Given the description of an element on the screen output the (x, y) to click on. 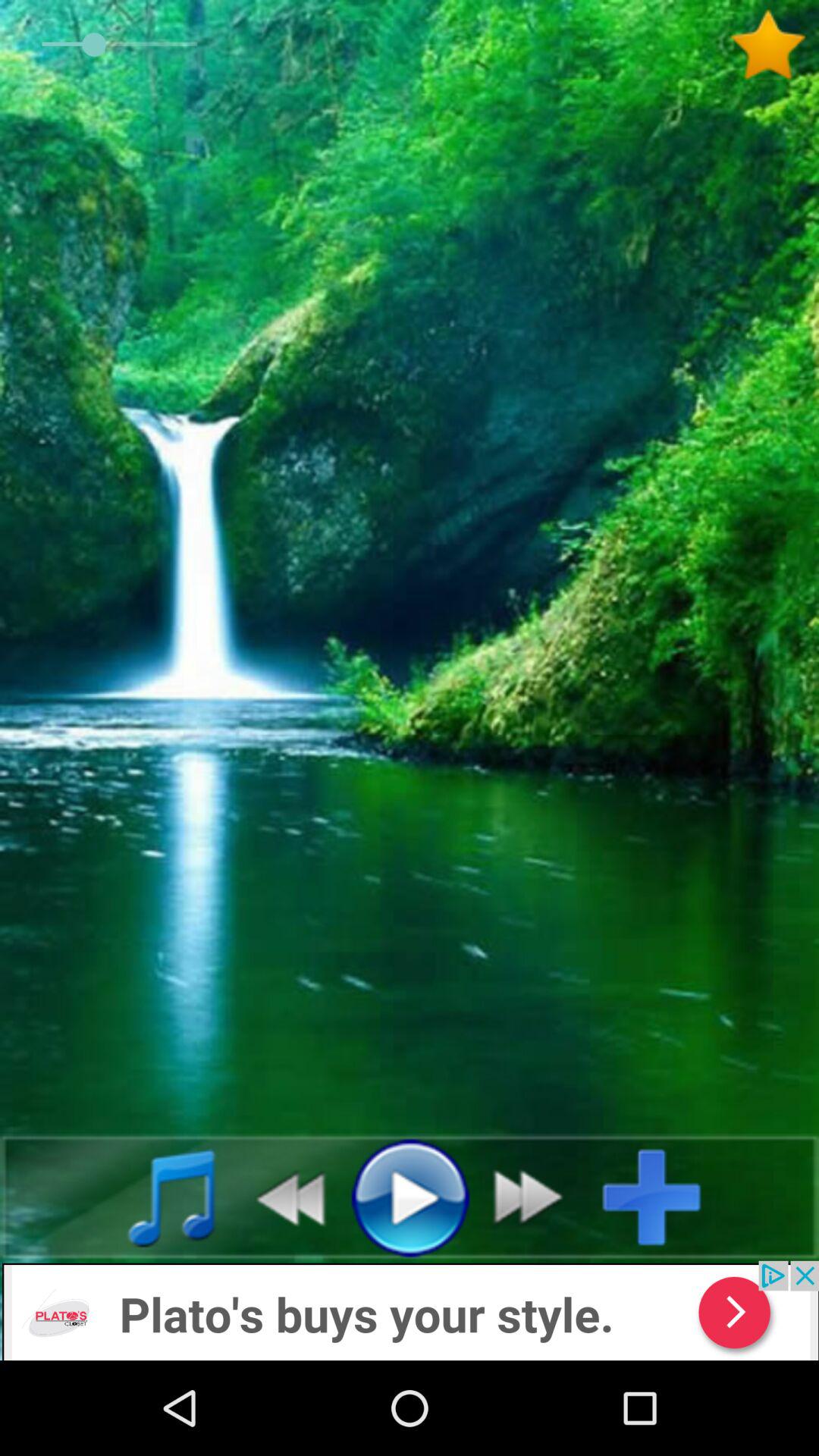
choose the music (154, 1196)
